Given the description of an element on the screen output the (x, y) to click on. 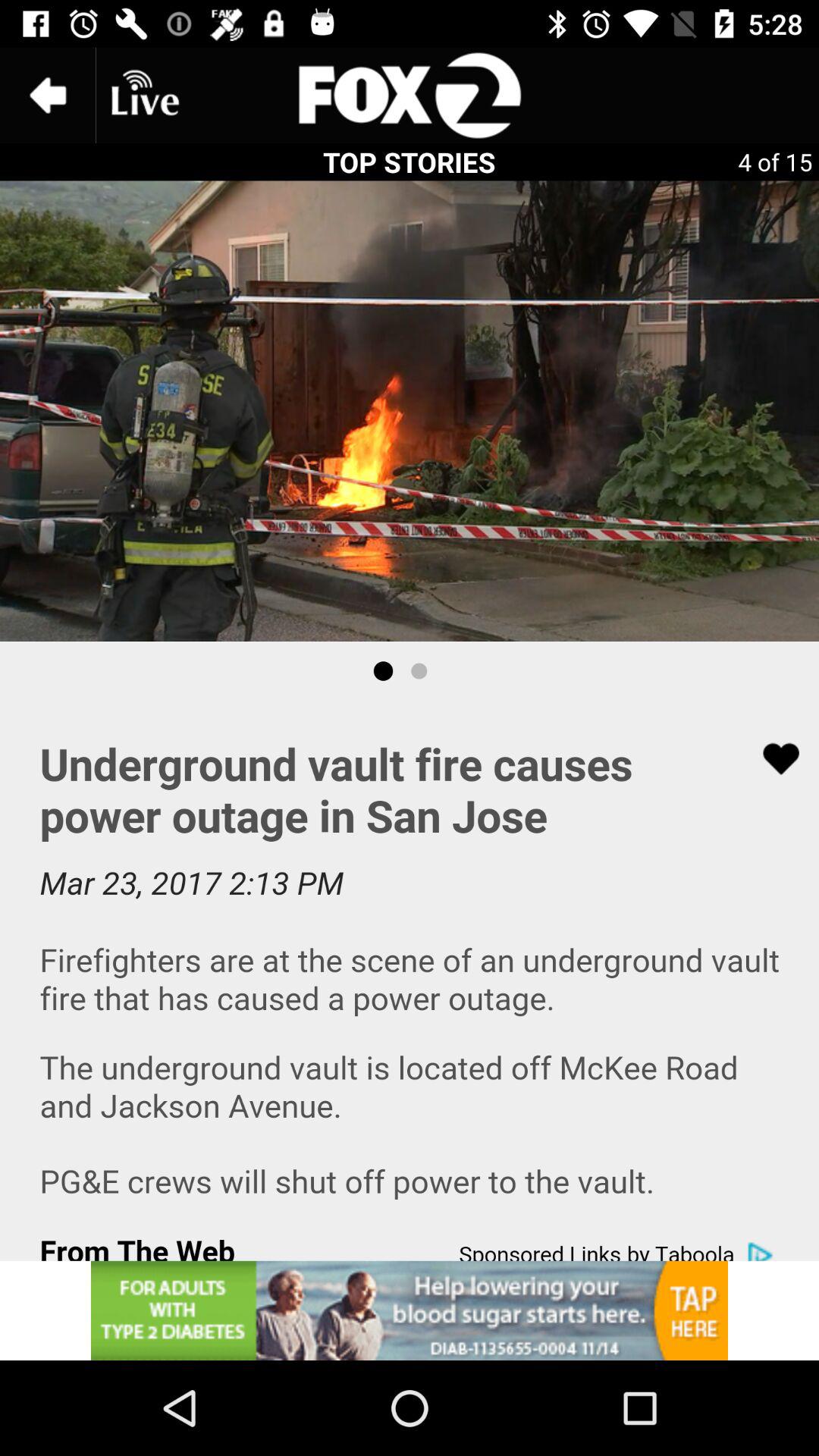
name of fox (409, 95)
